Given the description of an element on the screen output the (x, y) to click on. 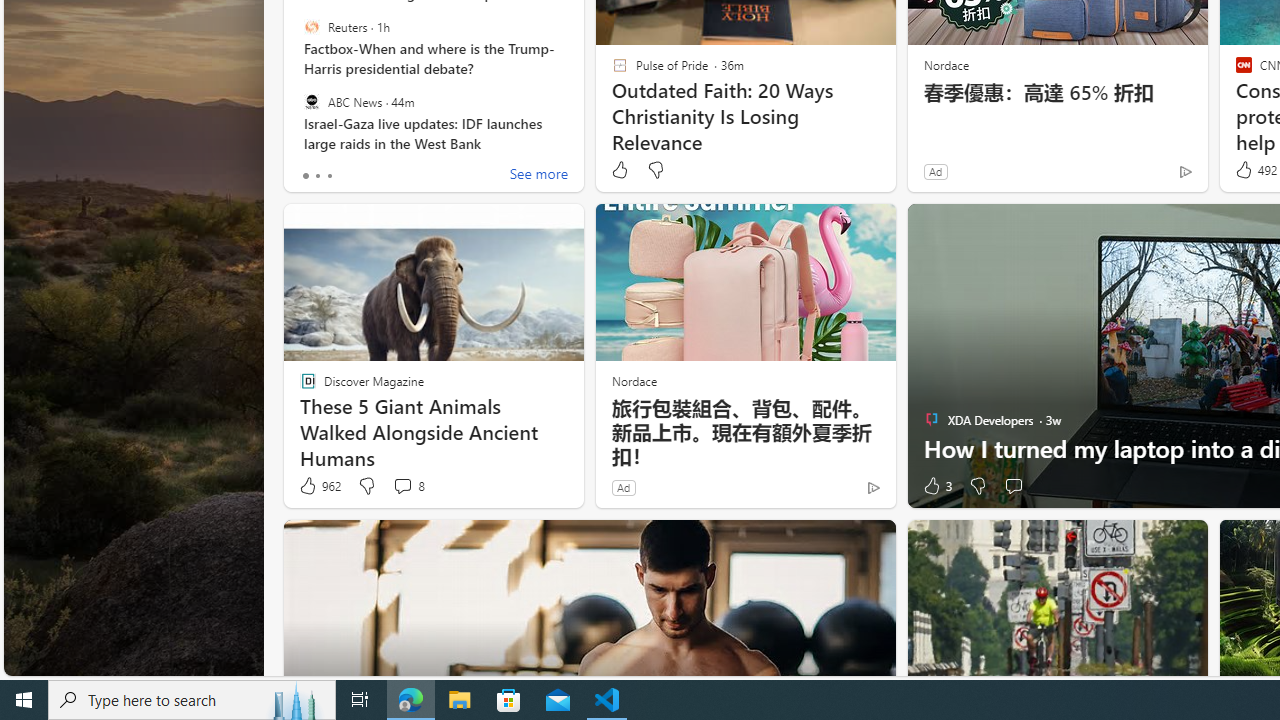
View comments 8 Comment (408, 485)
tab-1 (317, 175)
